Given the description of an element on the screen output the (x, y) to click on. 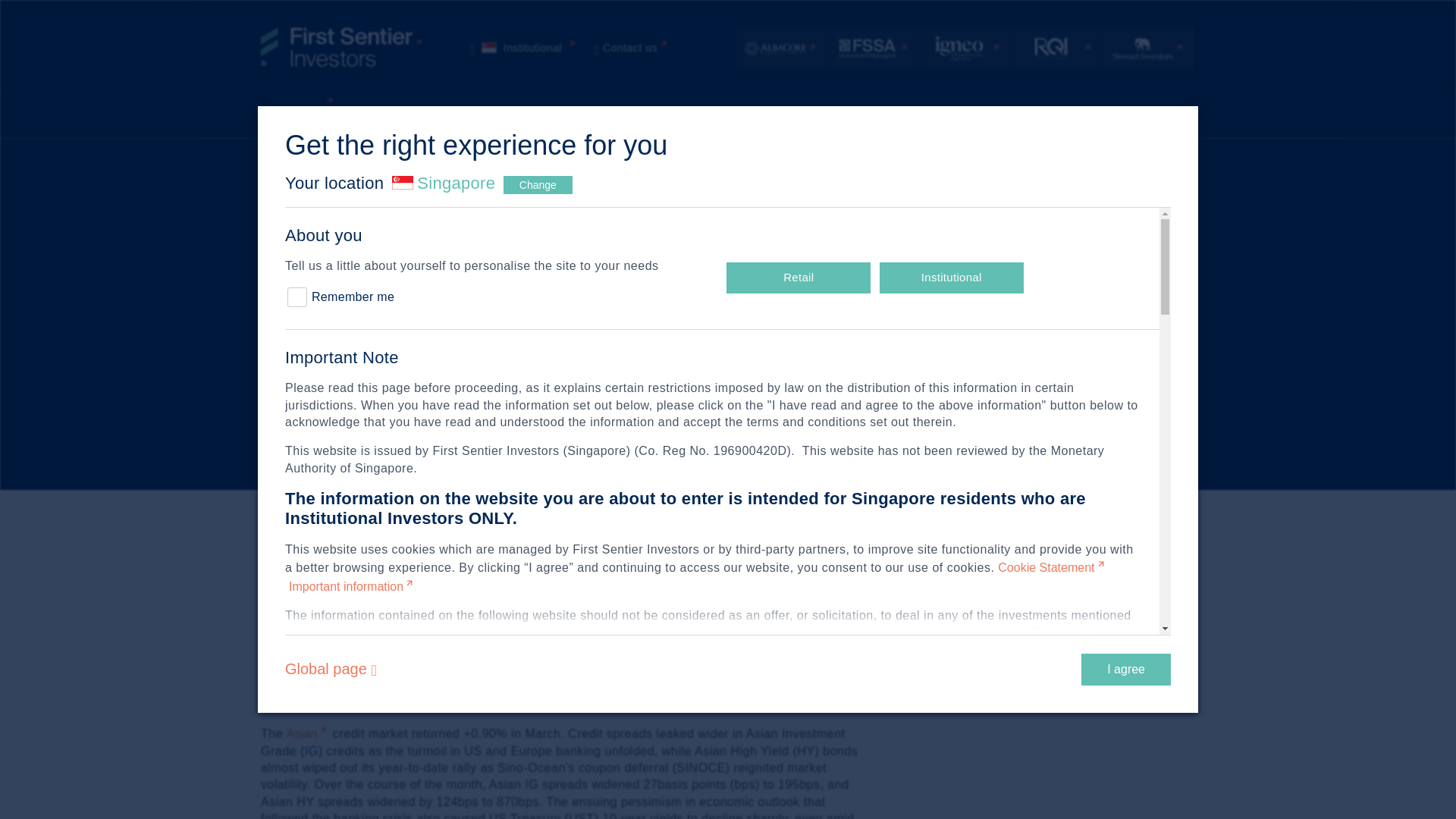
Contact us (524, 47)
Important information (631, 47)
Cookie Statement (351, 585)
